Given the description of an element on the screen output the (x, y) to click on. 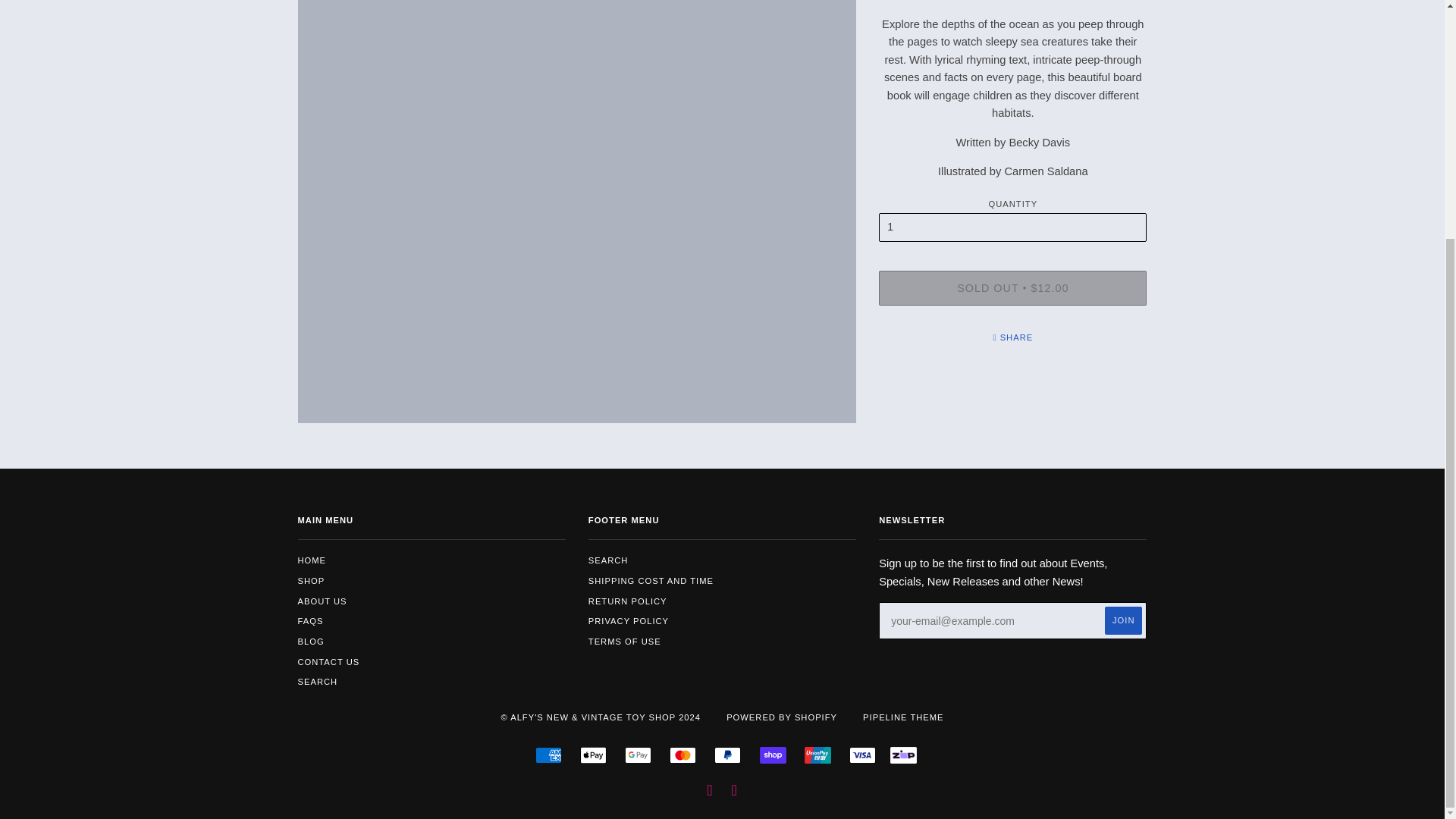
AMERICAN EXPRESS (548, 754)
1 (1013, 226)
GOOGLE PAY (637, 754)
VISA (862, 754)
APPLE PAY (593, 754)
PAYPAL (727, 754)
UNION PAY (818, 754)
SHOP PAY (773, 754)
Join (1123, 620)
MASTERCARD (682, 754)
